Given the description of an element on the screen output the (x, y) to click on. 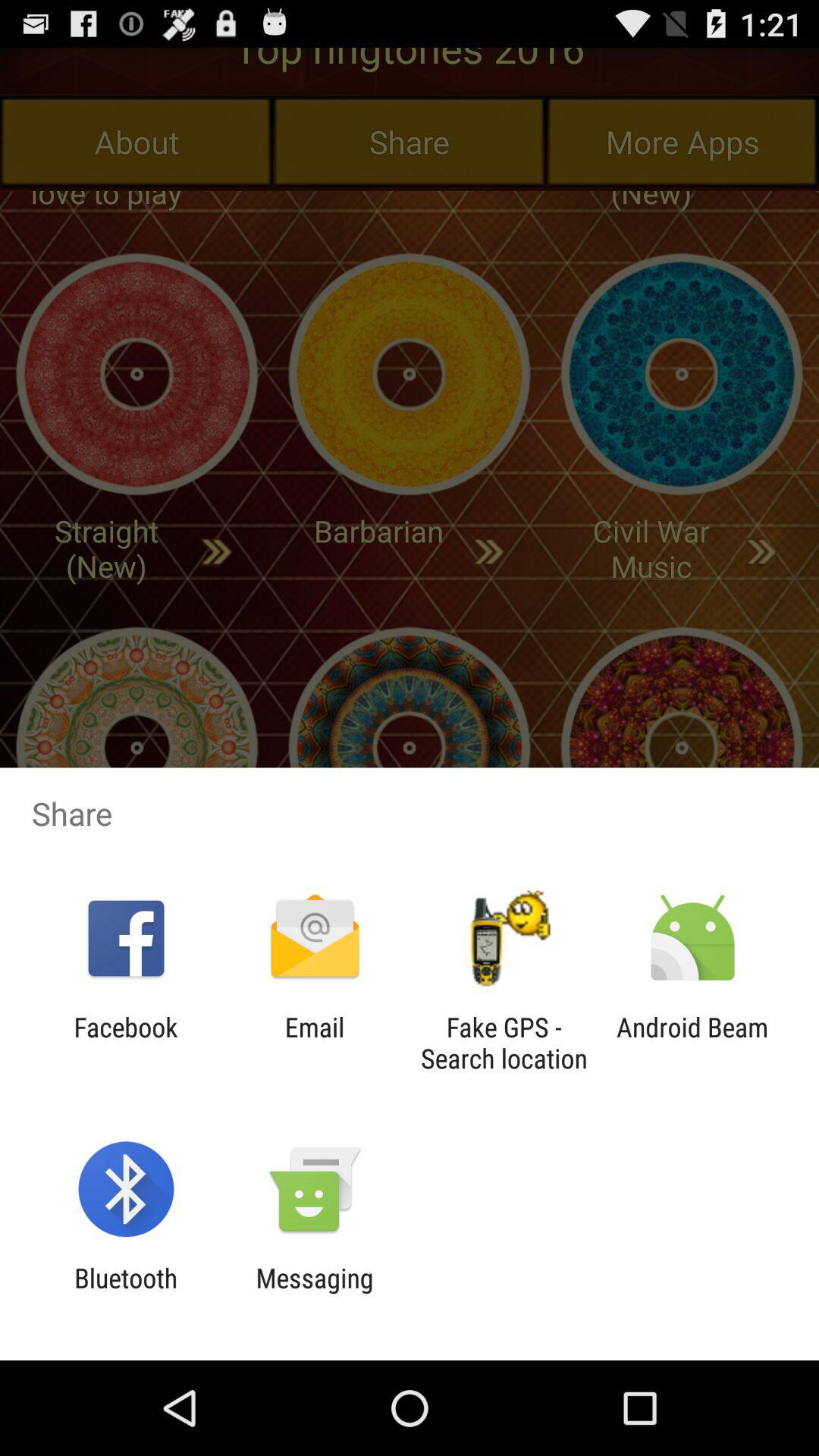
click item next to the messaging icon (125, 1293)
